Given the description of an element on the screen output the (x, y) to click on. 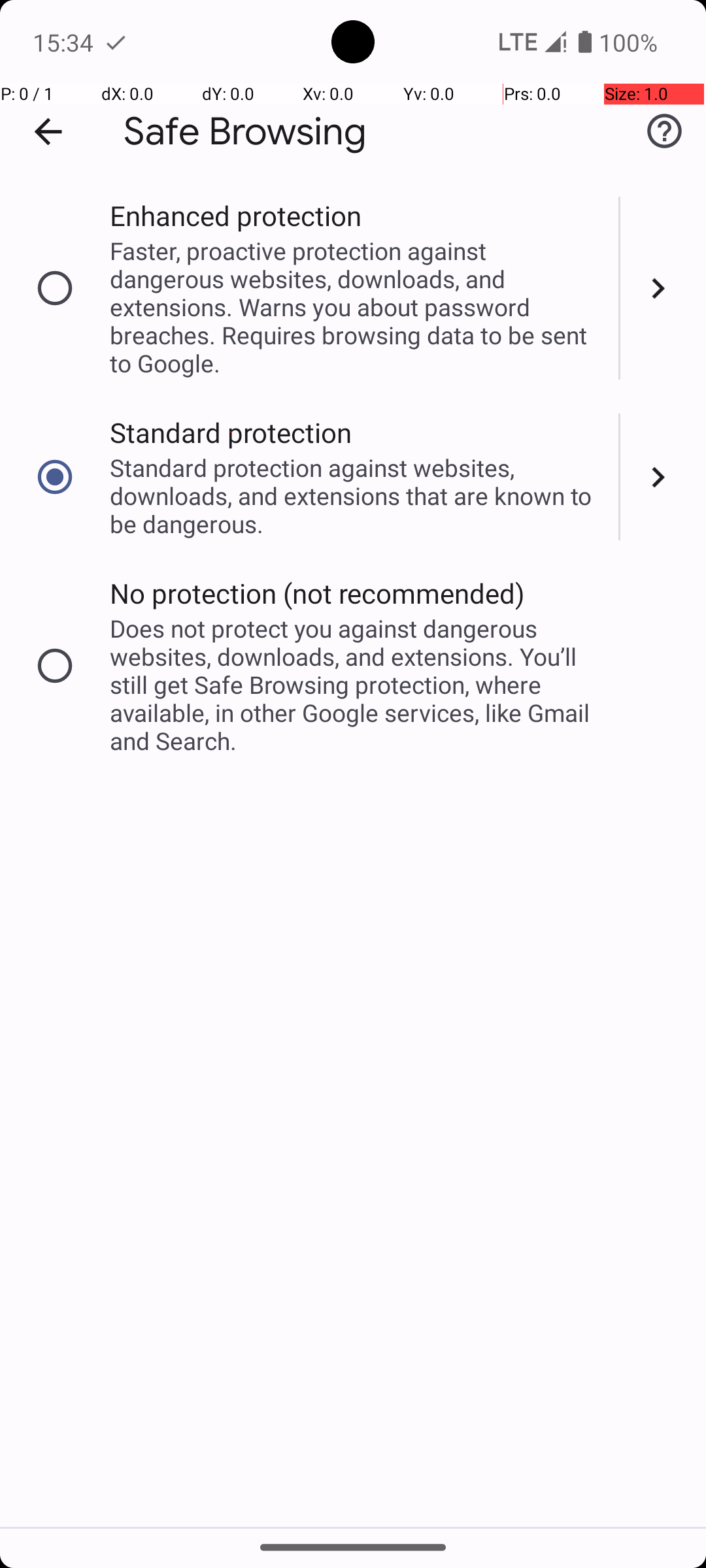
Safe Browsing Element type: android.widget.TextView (244, 131)
Enhanced protection Element type: android.widget.TextView (235, 214)
Faster, proactive protection against dangerous websites, downloads, and extensions. Warns you about password breaches. Requires browsing data to be sent to Google. Element type: android.widget.TextView (355, 306)
Expand Element type: android.widget.ImageButton (663, 287)
Standard protection Element type: android.widget.TextView (230, 431)
Standard protection against websites, downloads, and extensions that are known to be dangerous. Element type: android.widget.TextView (355, 495)
No protection (not recommended) Element type: android.widget.TextView (317, 592)
Does not protect you against dangerous websites, downloads, and extensions. You’ll still get Safe Browsing protection, where available, in other Google services, like Gmail and Search. Element type: android.widget.TextView (355, 684)
